Given the description of an element on the screen output the (x, y) to click on. 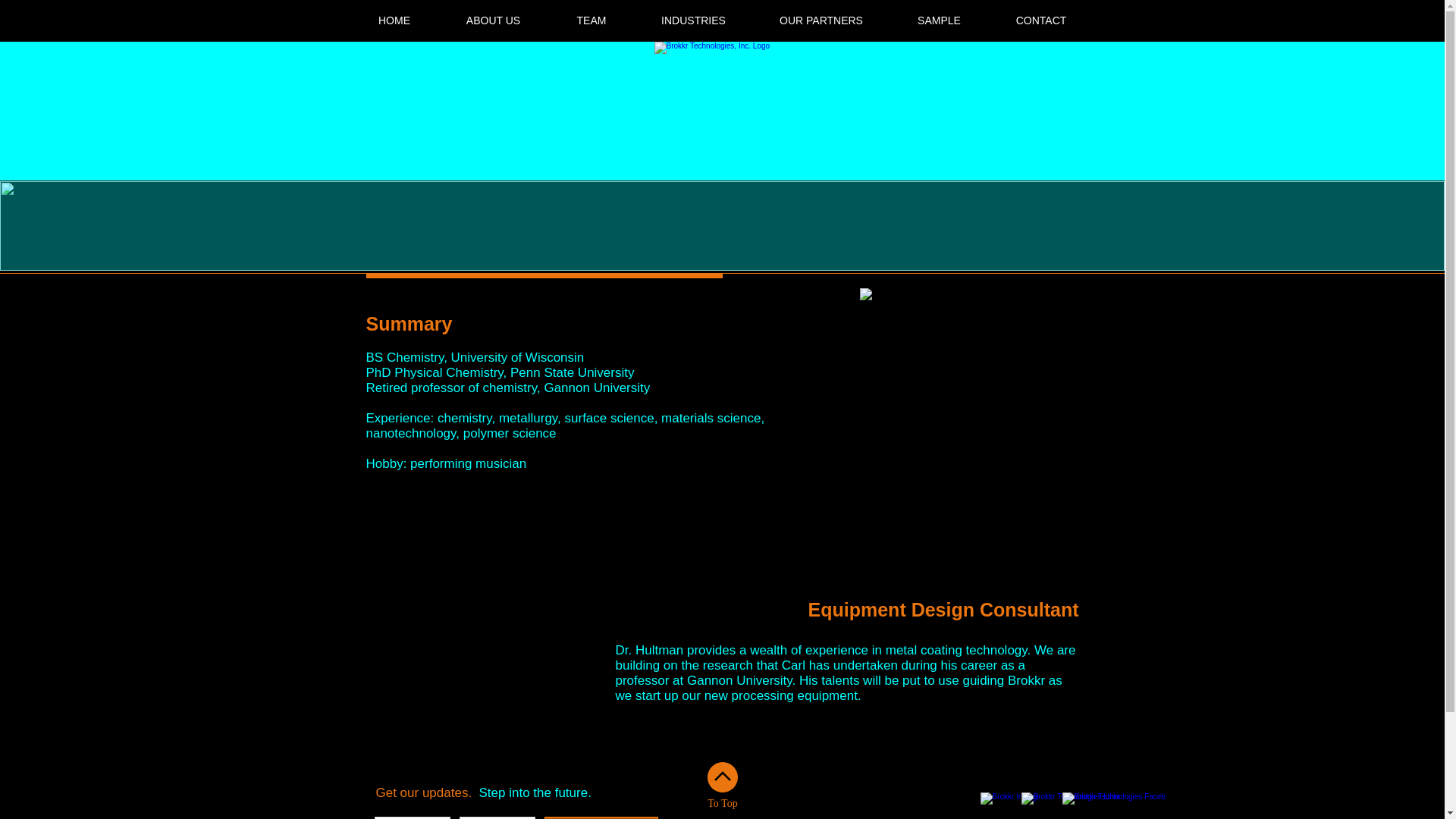
Subscribe Now (601, 817)
HOME (394, 20)
INDUSTRIES (692, 20)
CONTACT (1041, 20)
SAMPLE (938, 20)
ABOUT US (493, 20)
OUR PARTNERS (820, 20)
